Given the description of an element on the screen output the (x, y) to click on. 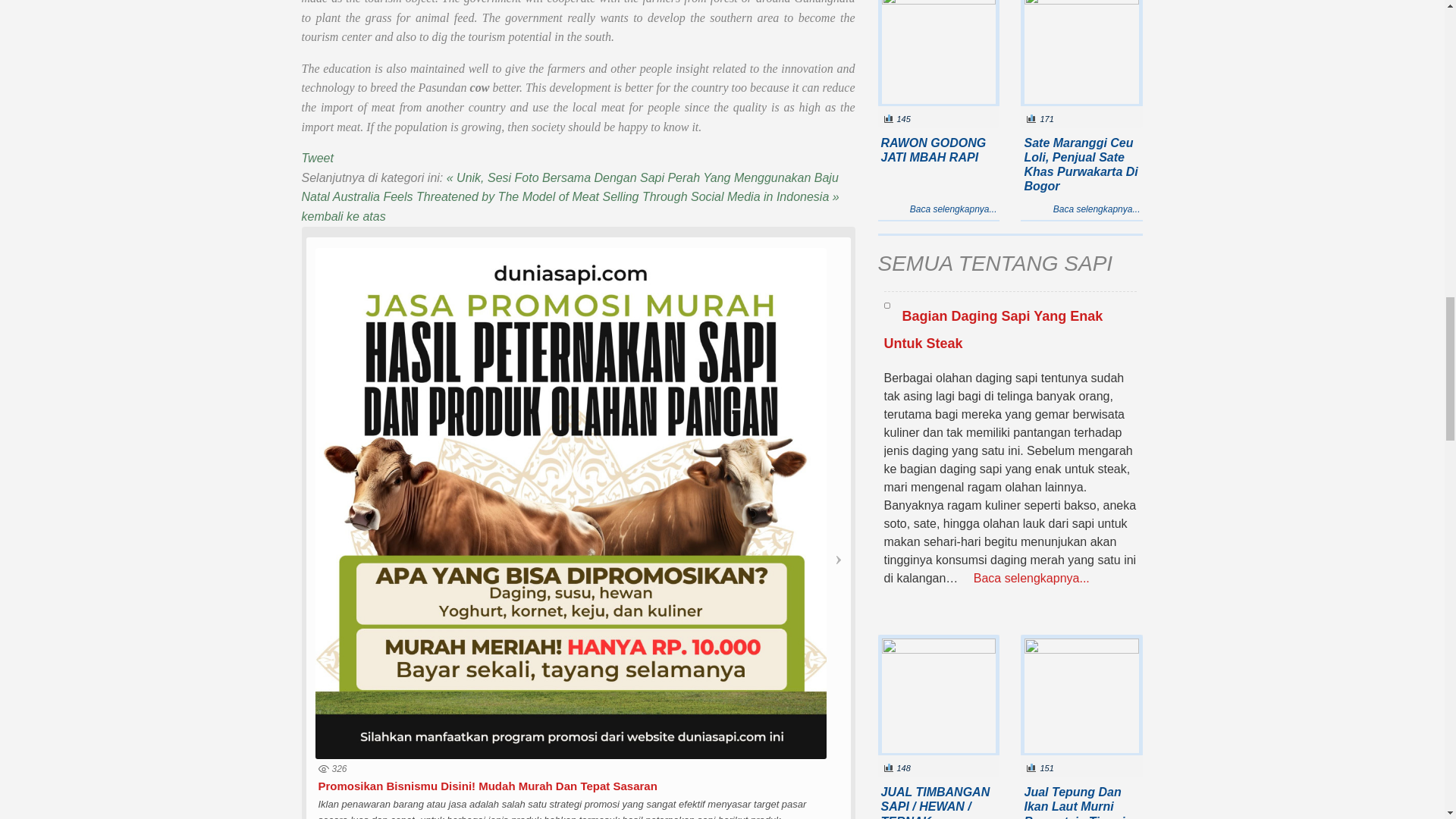
kembali ke atas (343, 215)
Bagian Daging Sapi Yang Enak Untuk Steak (886, 305)
Promosikan Bisnismu Disini! Mudah Murah Dan Tepat Sasaran (488, 785)
Tweet (317, 157)
RAWON GODONG JATI MBAH RAPI (938, 53)
